Given the description of an element on the screen output the (x, y) to click on. 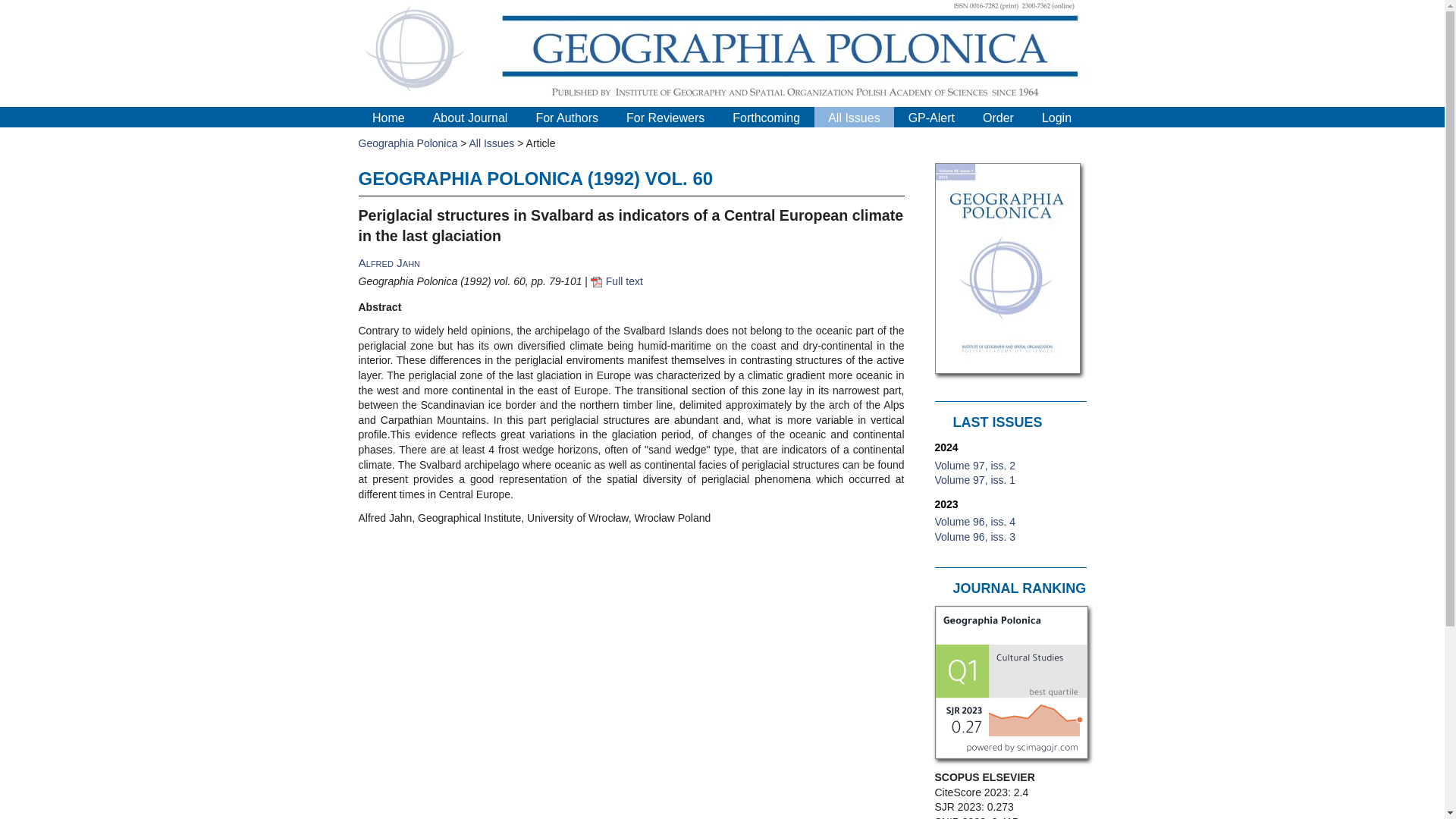
For Authors (566, 117)
Volume 96, iss. 3 (974, 536)
Order (997, 117)
All Issues (853, 117)
Order (997, 117)
Home (388, 117)
Volume 97, iss. 1 (974, 480)
Forthcoming (765, 117)
GP-Alert (931, 117)
All Issues (490, 143)
